Given the description of an element on the screen output the (x, y) to click on. 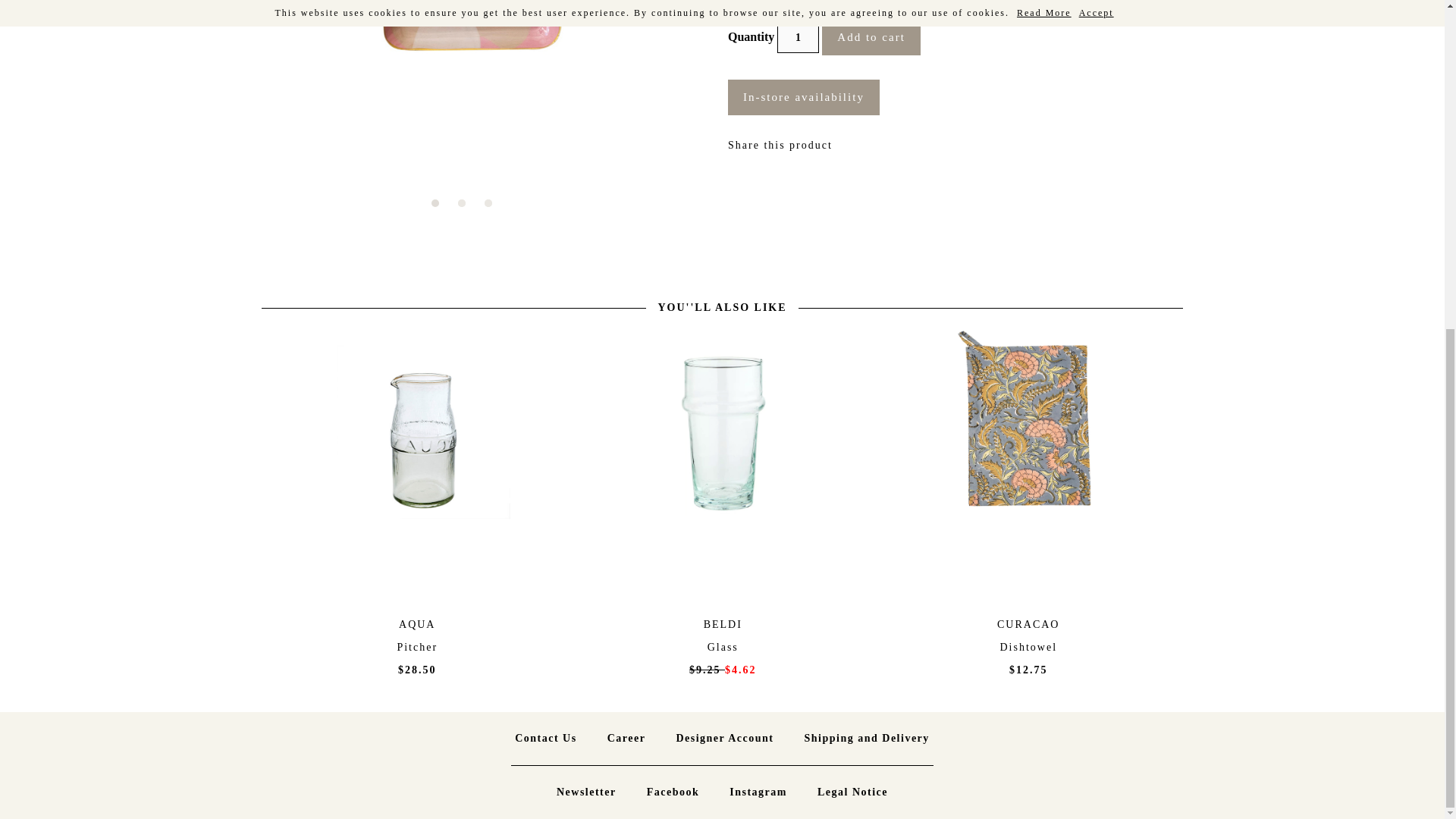
1 (797, 37)
